Given the description of an element on the screen output the (x, y) to click on. 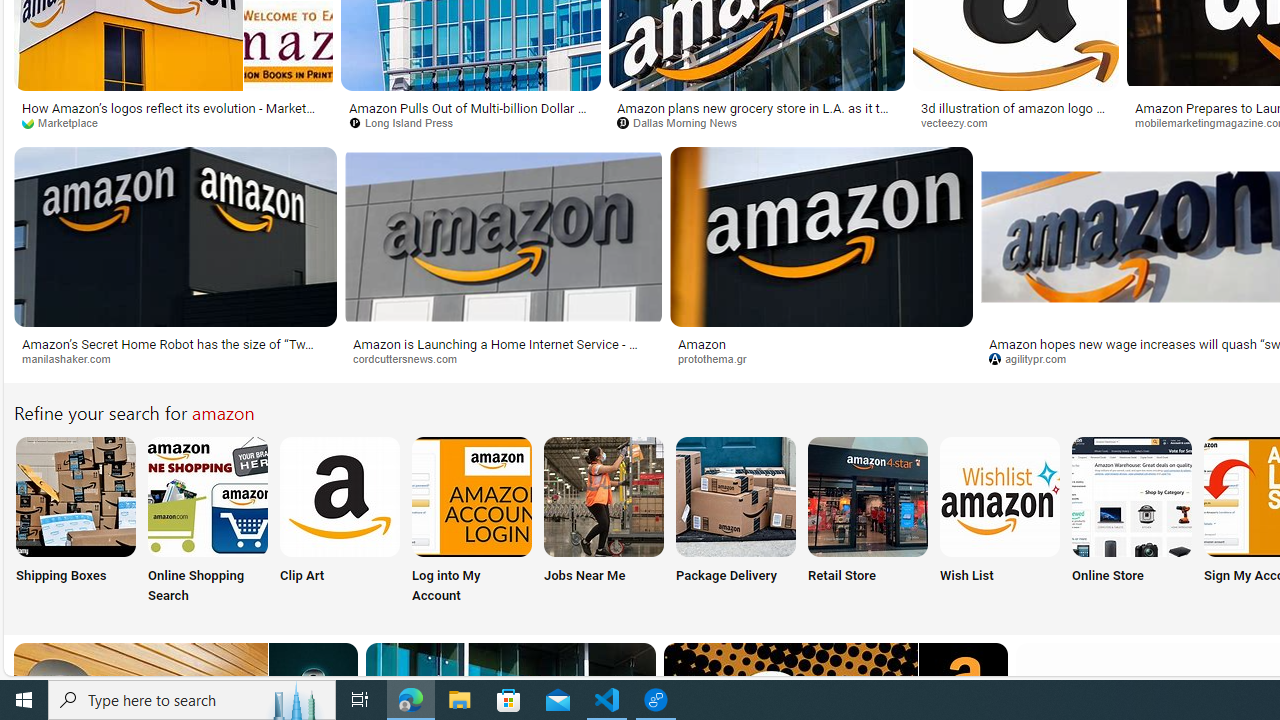
cordcuttersnews.com (503, 359)
Amazon Shipping Boxes Shipping Boxes (75, 521)
Amazon Online Store (1131, 496)
Marketplace (173, 123)
Long Island Press (408, 121)
Image result for amazon (820, 236)
Online Shopping Search (207, 521)
Amazon Package Delivery Package Delivery (735, 521)
Clip Art (339, 521)
